Given the description of an element on the screen output the (x, y) to click on. 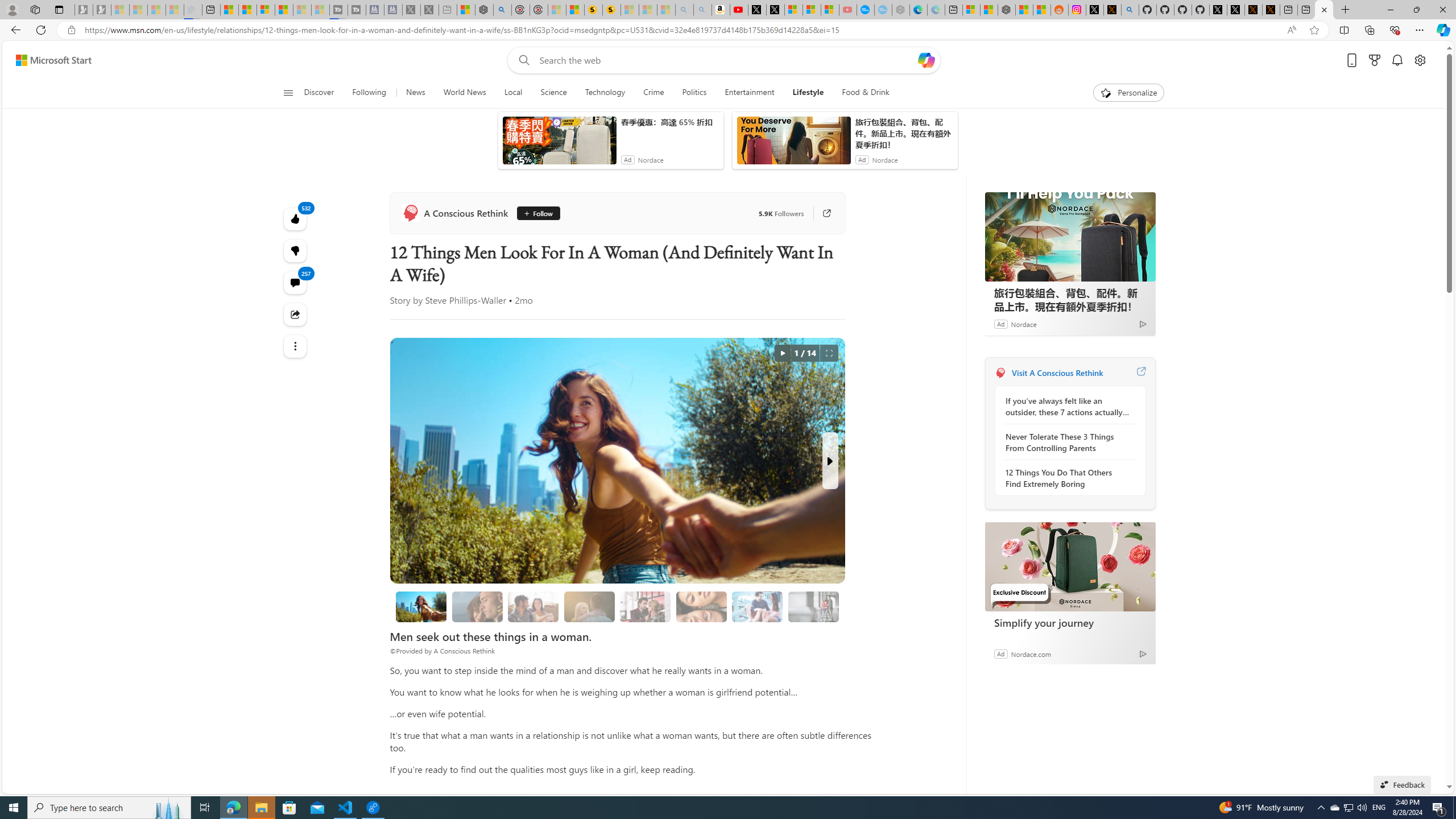
Learning (659, 151)
Ad (876, 127)
149 Like (654, 327)
X Privacy Policy (1253, 9)
Mostly sunny (1014, 208)
Microsoft 365 (675, 126)
Aberdeen (1019, 179)
Real Estate (893, 151)
amazon - Search (875, 49)
AutomationID: tab-22 (474, 328)
Gloom - YouTube - Sleeping (830, 9)
